Given the description of an element on the screen output the (x, y) to click on. 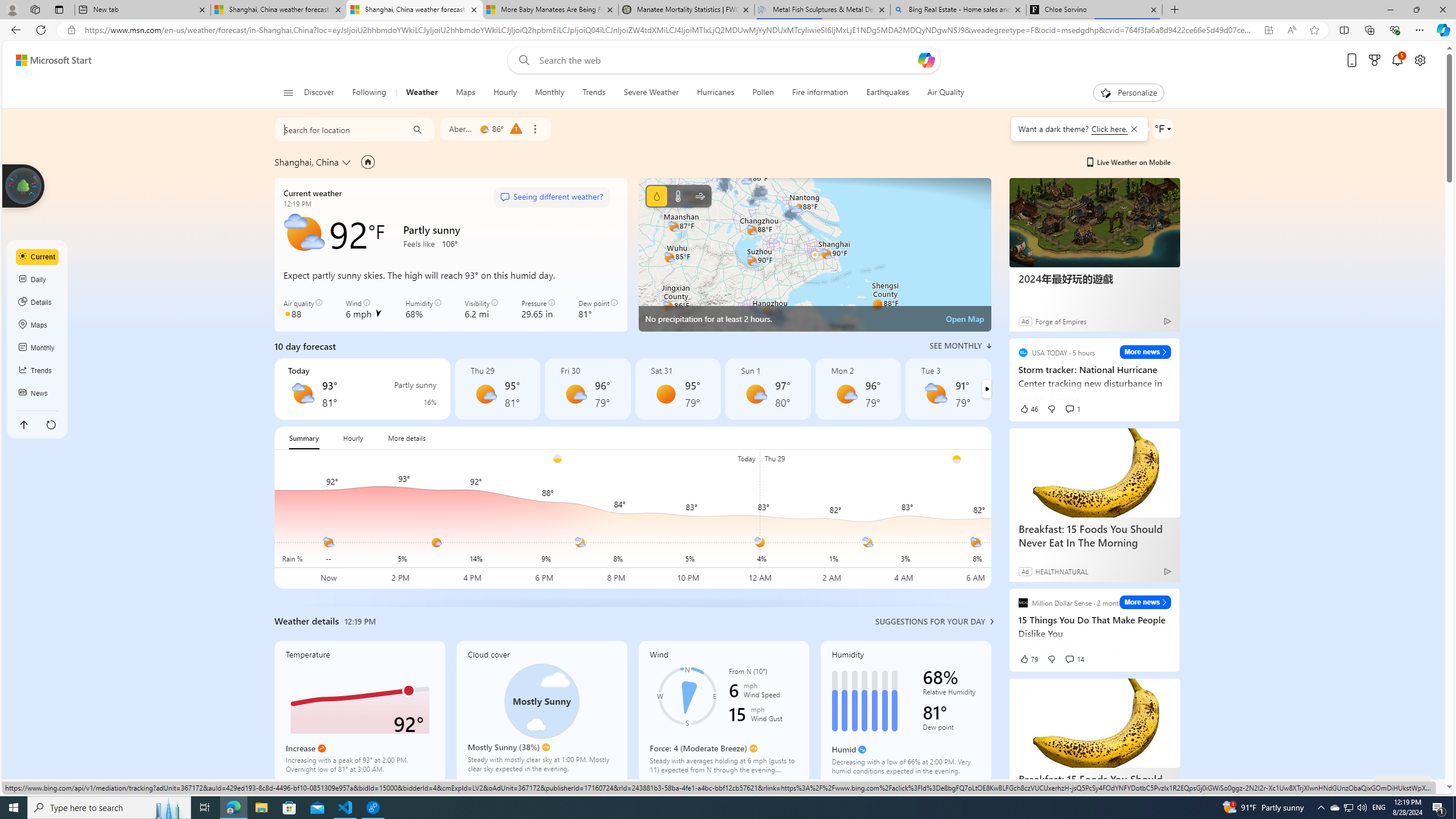
Microsoft Start (53, 60)
Severe Weather (650, 92)
Humidity 68% (423, 309)
Data Providers (1311, 785)
Open settings (1420, 60)
Humidity (905, 711)
Seeing different weather? (551, 196)
Close (1442, 9)
Relative Humidity (951, 693)
Split screen (1344, 29)
Tab actions menu (58, 9)
